Given the description of an element on the screen output the (x, y) to click on. 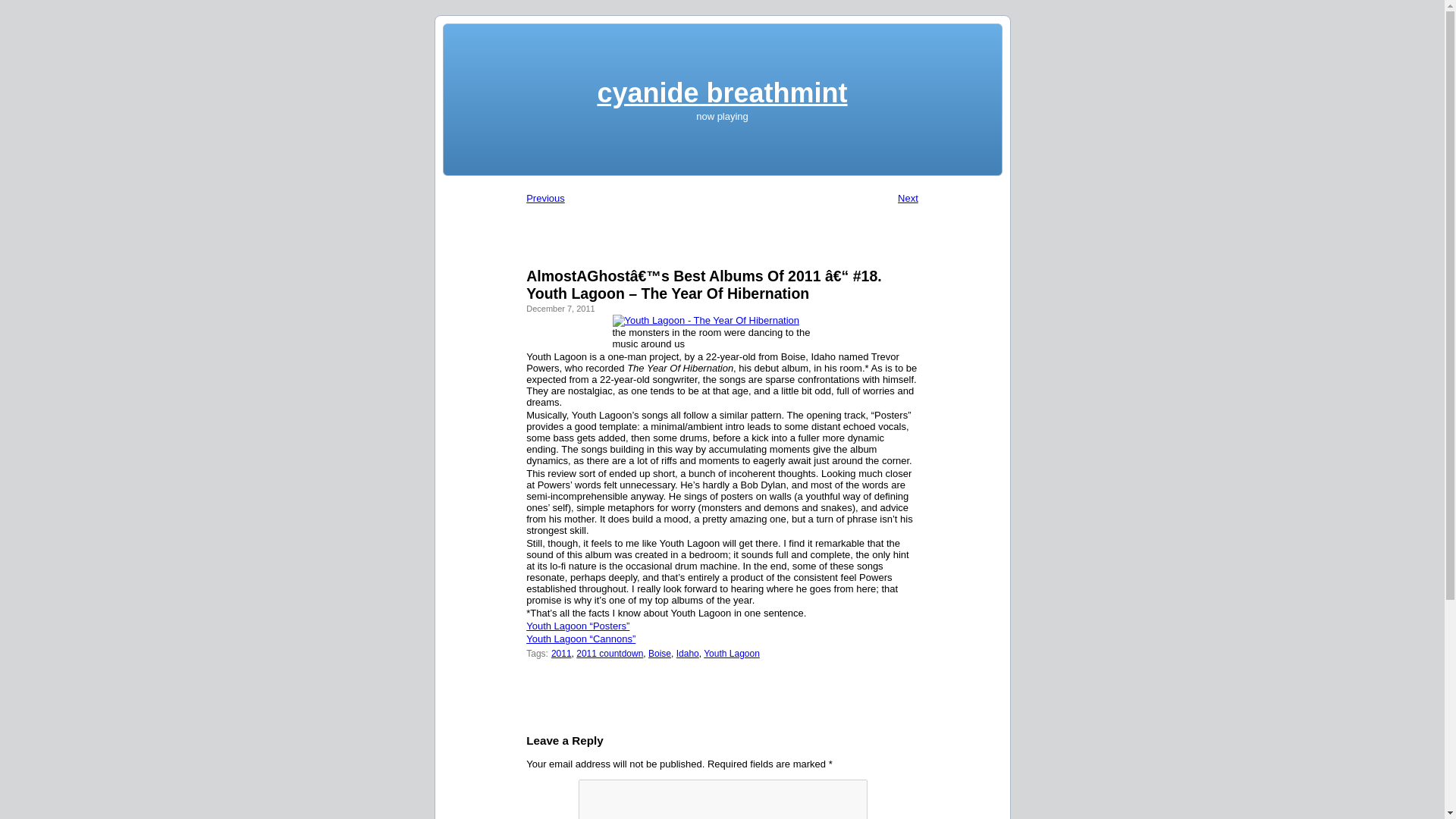
cyanide breathmint (721, 92)
2011 countdown (609, 652)
Youth Lagoon - The Year Of Hibernation (705, 320)
Idaho (687, 652)
Next (908, 197)
Youth Lagoon (731, 652)
Boise (659, 652)
Previous (544, 197)
2011 (561, 652)
